Given the description of an element on the screen output the (x, y) to click on. 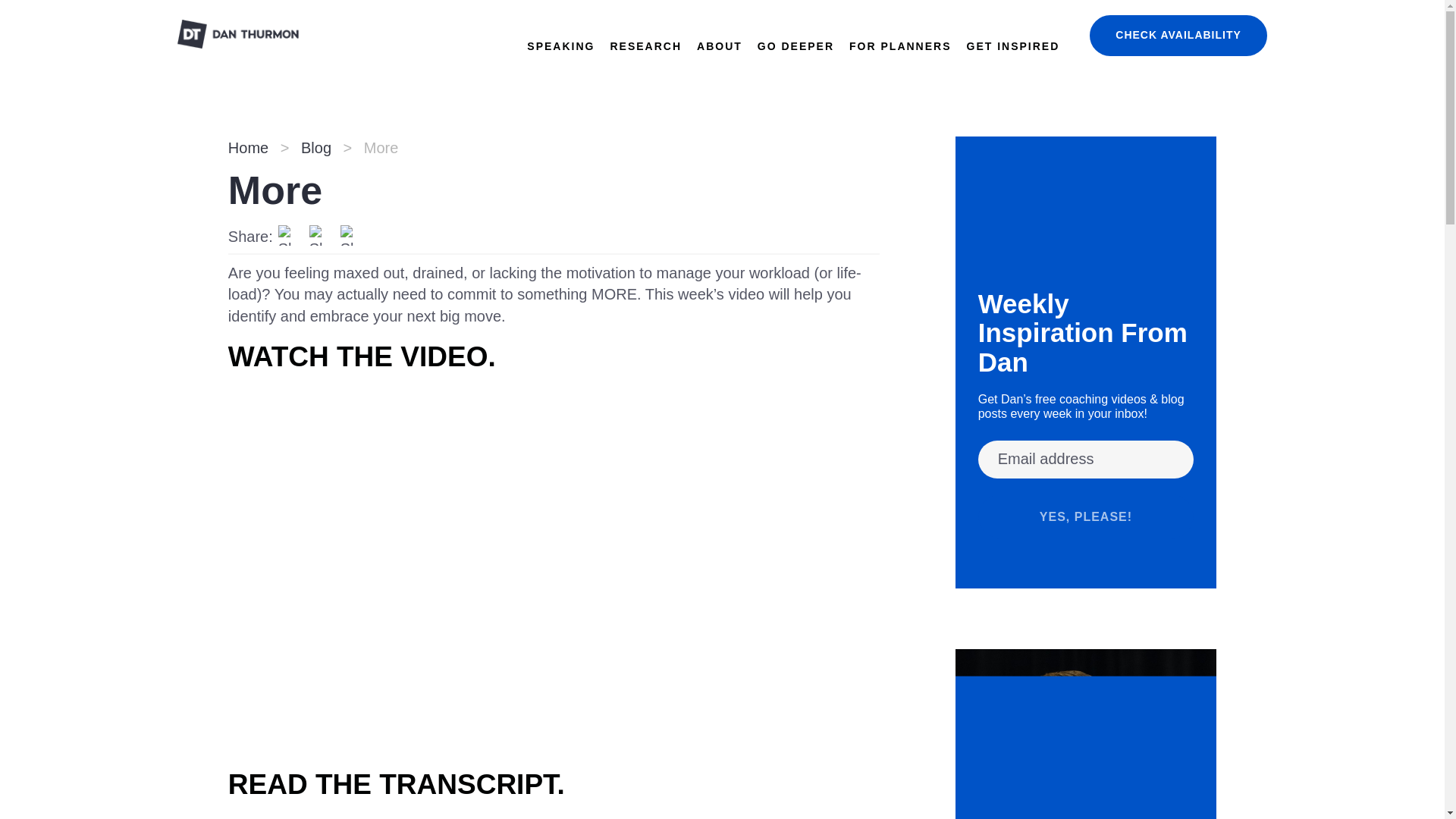
GO DEEPER (795, 40)
ABOUT (719, 40)
Blog (316, 147)
Share: (250, 238)
FOR PLANNERS (899, 40)
More (274, 190)
Yes, please! (1085, 515)
Home (248, 147)
CHECK AVAILABILITY (1177, 35)
Yes, please! (1085, 515)
RESEARCH (645, 40)
SPEAKING (560, 40)
Dan Thurmon (237, 33)
GET INSPIRED (1012, 40)
